Given the description of an element on the screen output the (x, y) to click on. 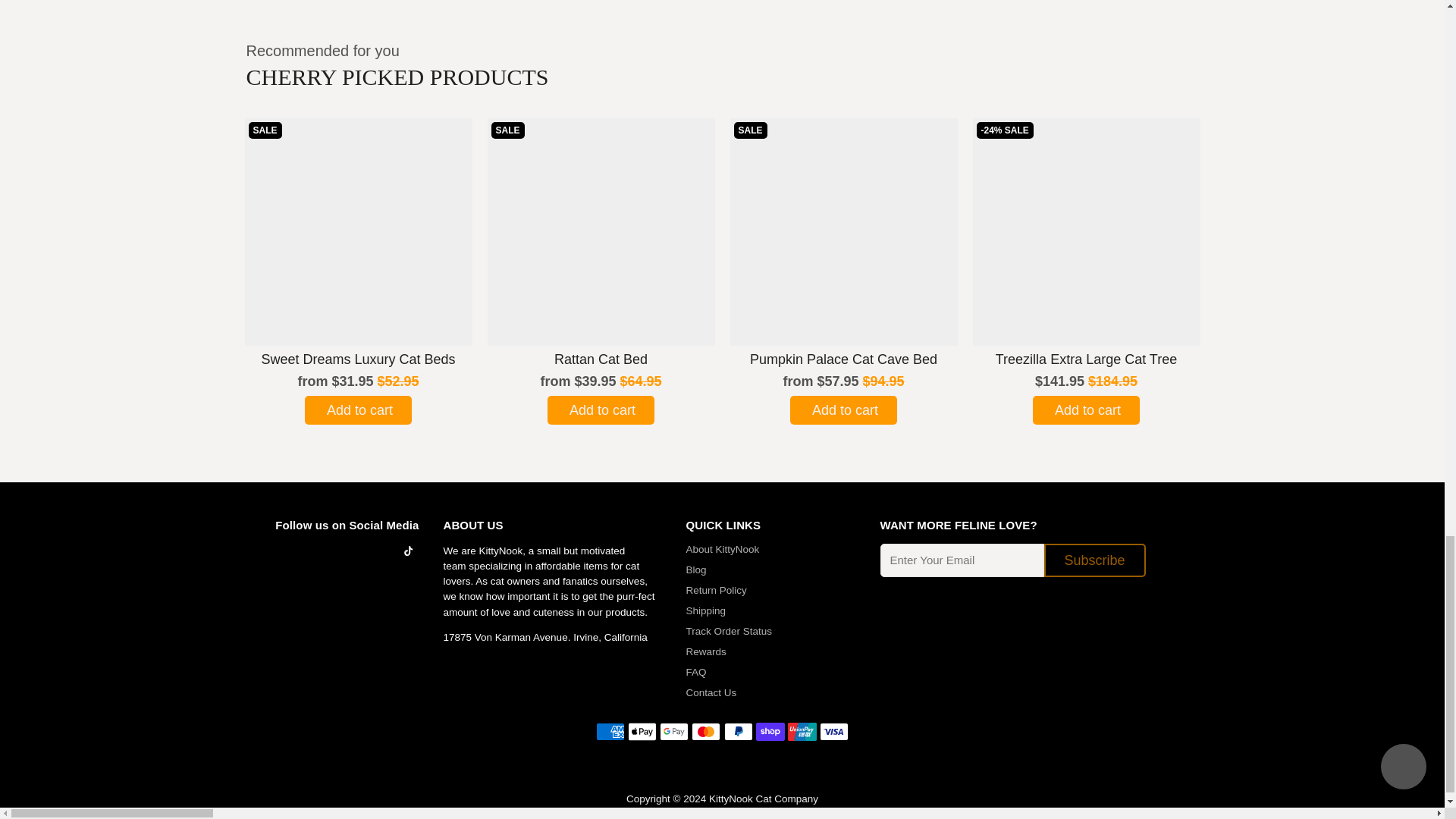
Shop Pay (769, 731)
Google Pay (673, 731)
Apple Pay (641, 731)
American Express (609, 731)
Union Pay (801, 731)
PayPal (737, 731)
Visa (833, 731)
Mastercard (705, 731)
